Given the description of an element on the screen output the (x, y) to click on. 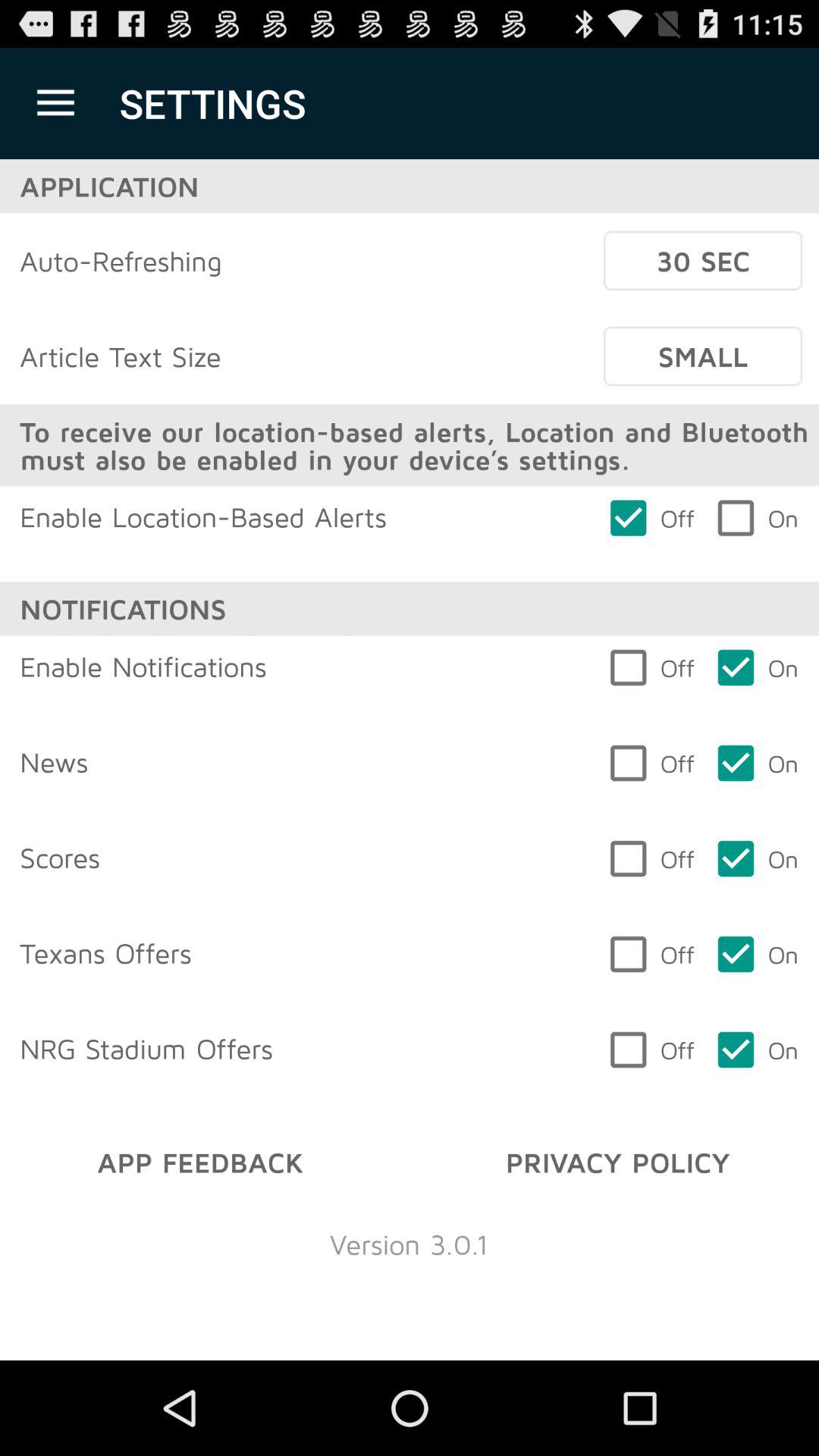
click item above the application icon (55, 103)
